Given the description of an element on the screen output the (x, y) to click on. 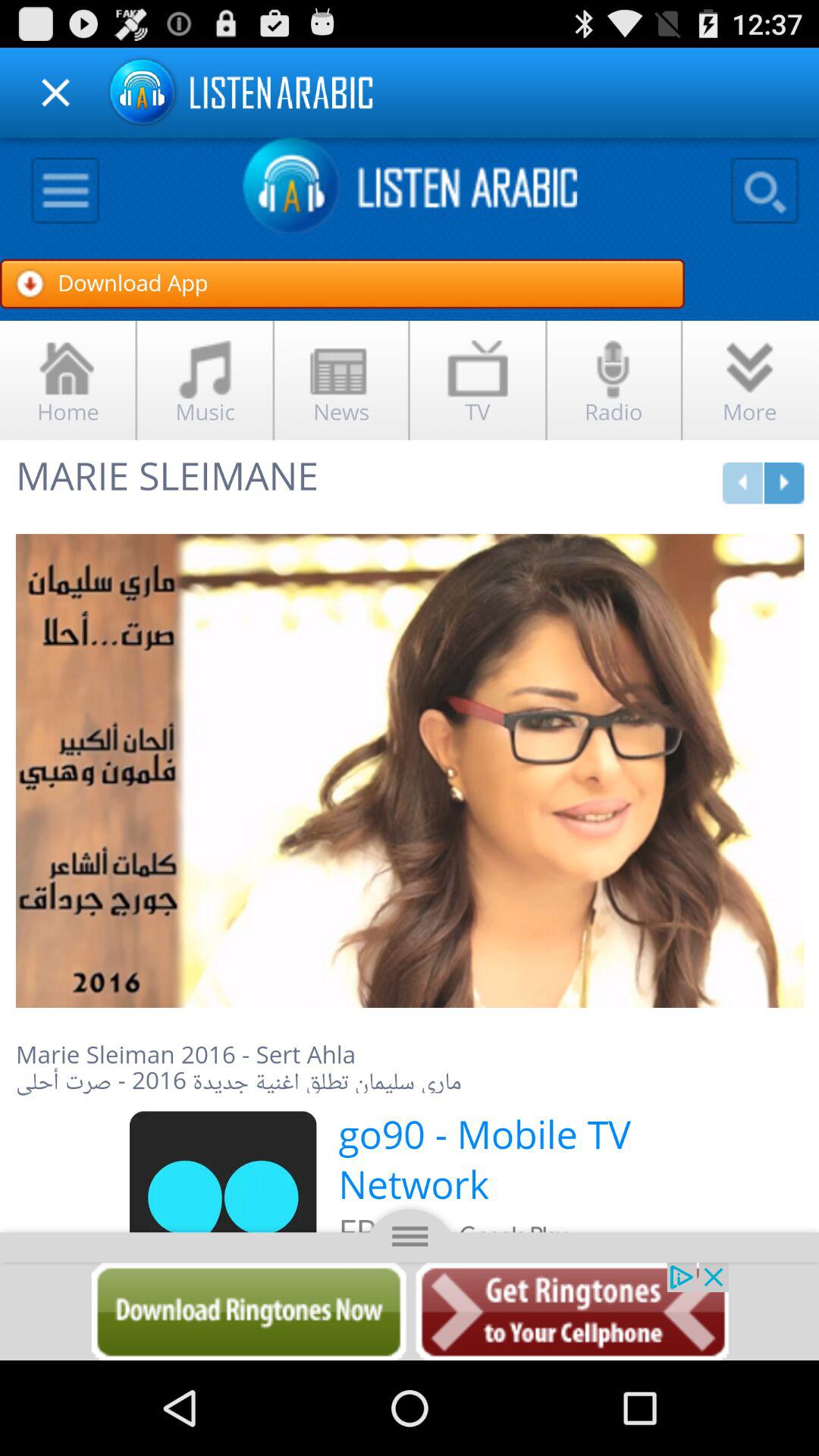
close app (55, 92)
